Given the description of an element on the screen output the (x, y) to click on. 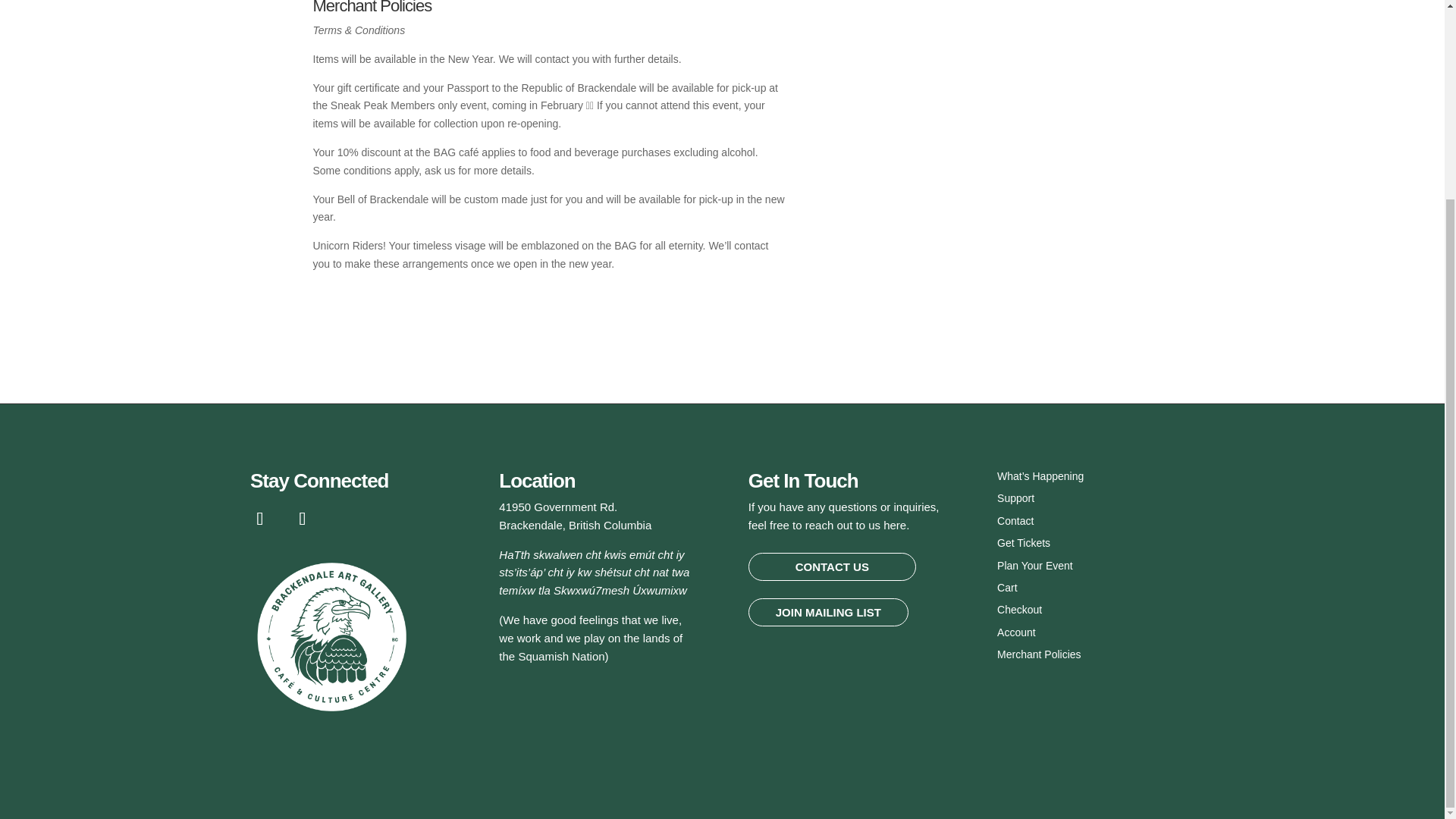
Follow on Facebook (259, 518)
BAG-logo-round-tom-white (335, 636)
Follow on Instagram (301, 518)
